Given the description of an element on the screen output the (x, y) to click on. 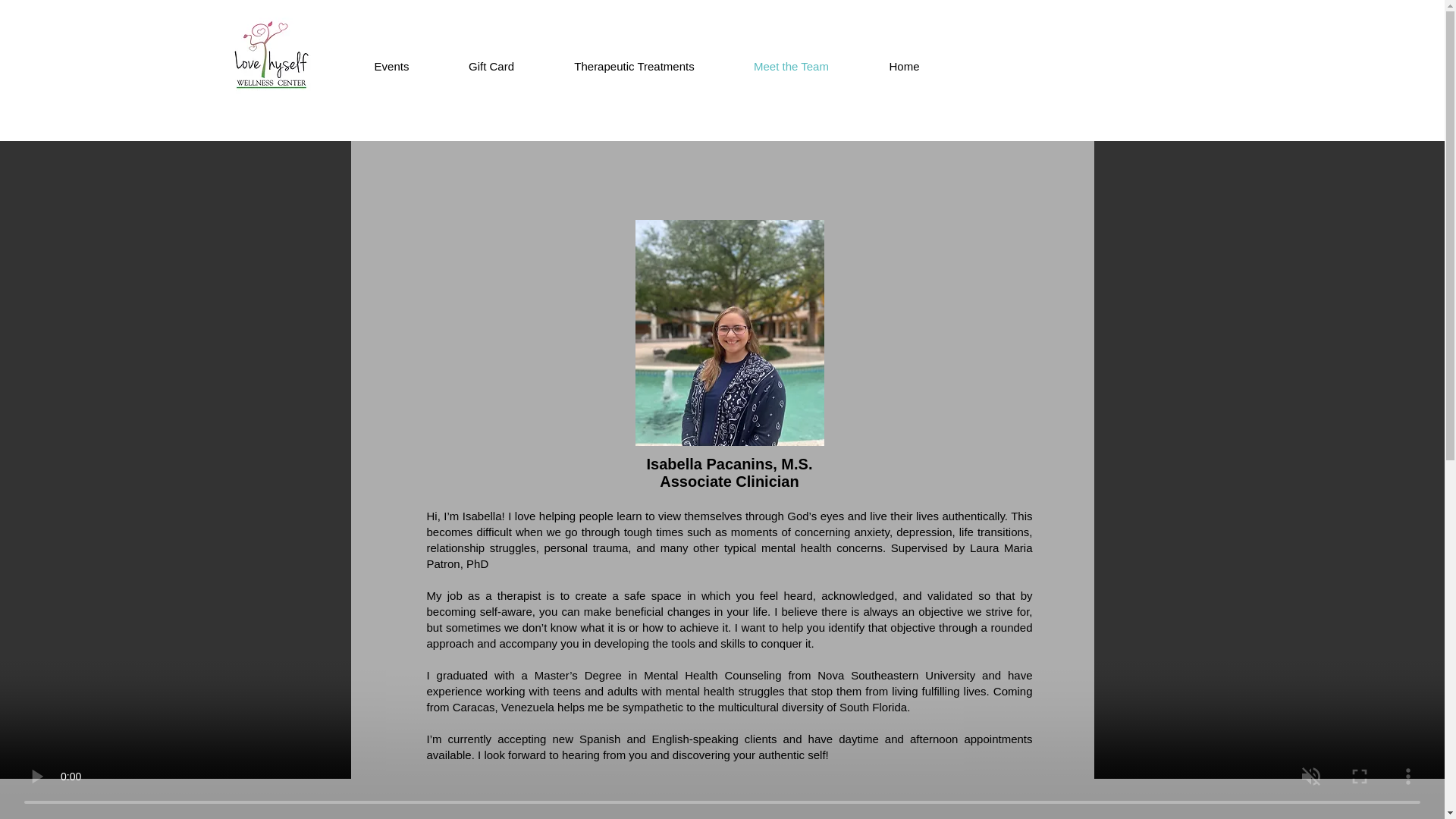
Therapeutic Treatments (633, 66)
Gift Card (491, 66)
Home (904, 66)
Events (392, 66)
Meet the Team (791, 66)
